Given the description of an element on the screen output the (x, y) to click on. 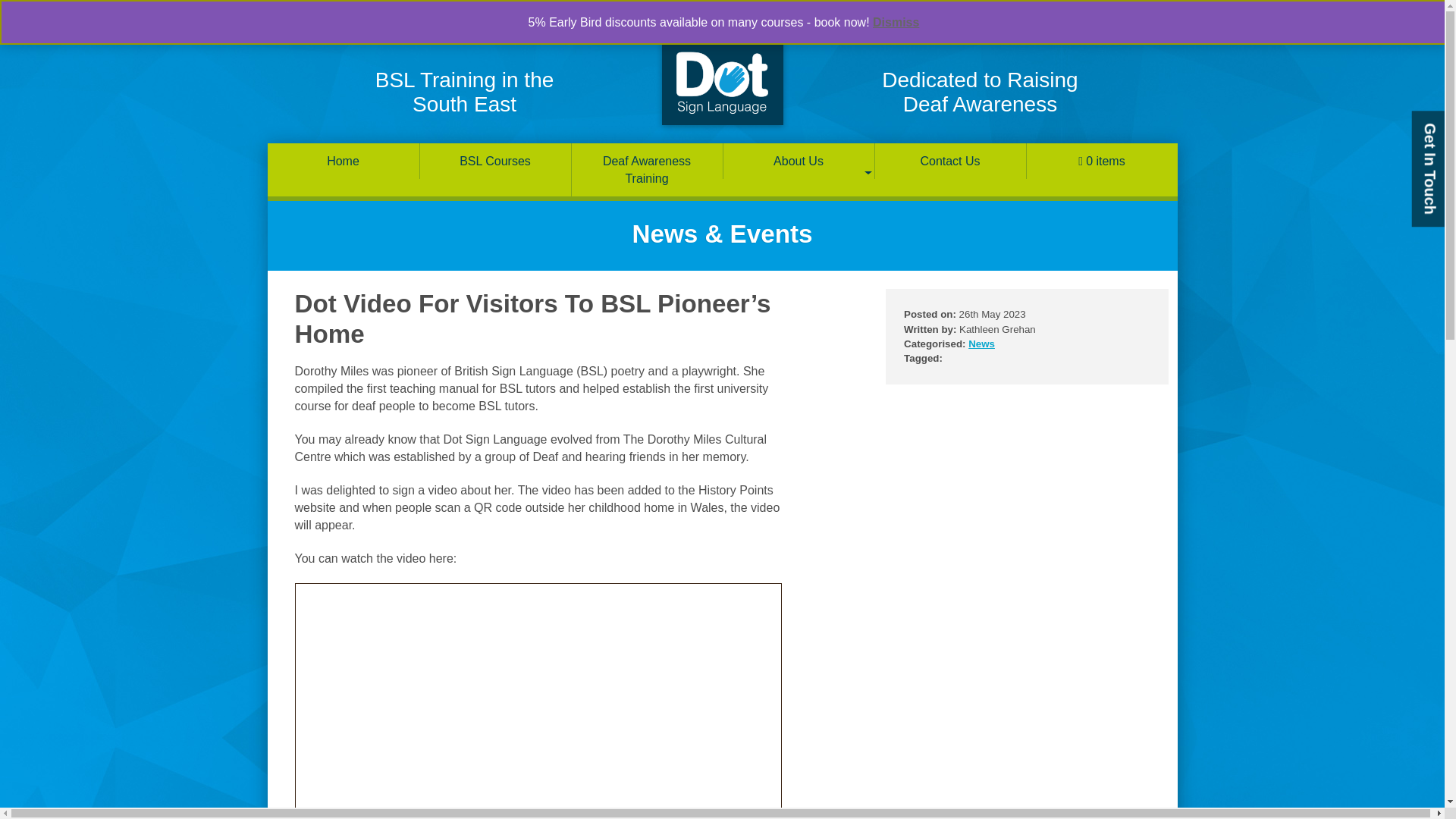
Dot Sign Language (722, 82)
Dismiss (895, 21)
Home (342, 160)
Contact Us (950, 160)
Dot Miles Bio Video (537, 701)
Dot Sign Language (722, 82)
Deaf Awareness Training (647, 169)
Start shopping (1101, 160)
BSL Courses (495, 160)
About Us (799, 160)
0 items (1101, 160)
News (981, 343)
